Given the description of an element on the screen output the (x, y) to click on. 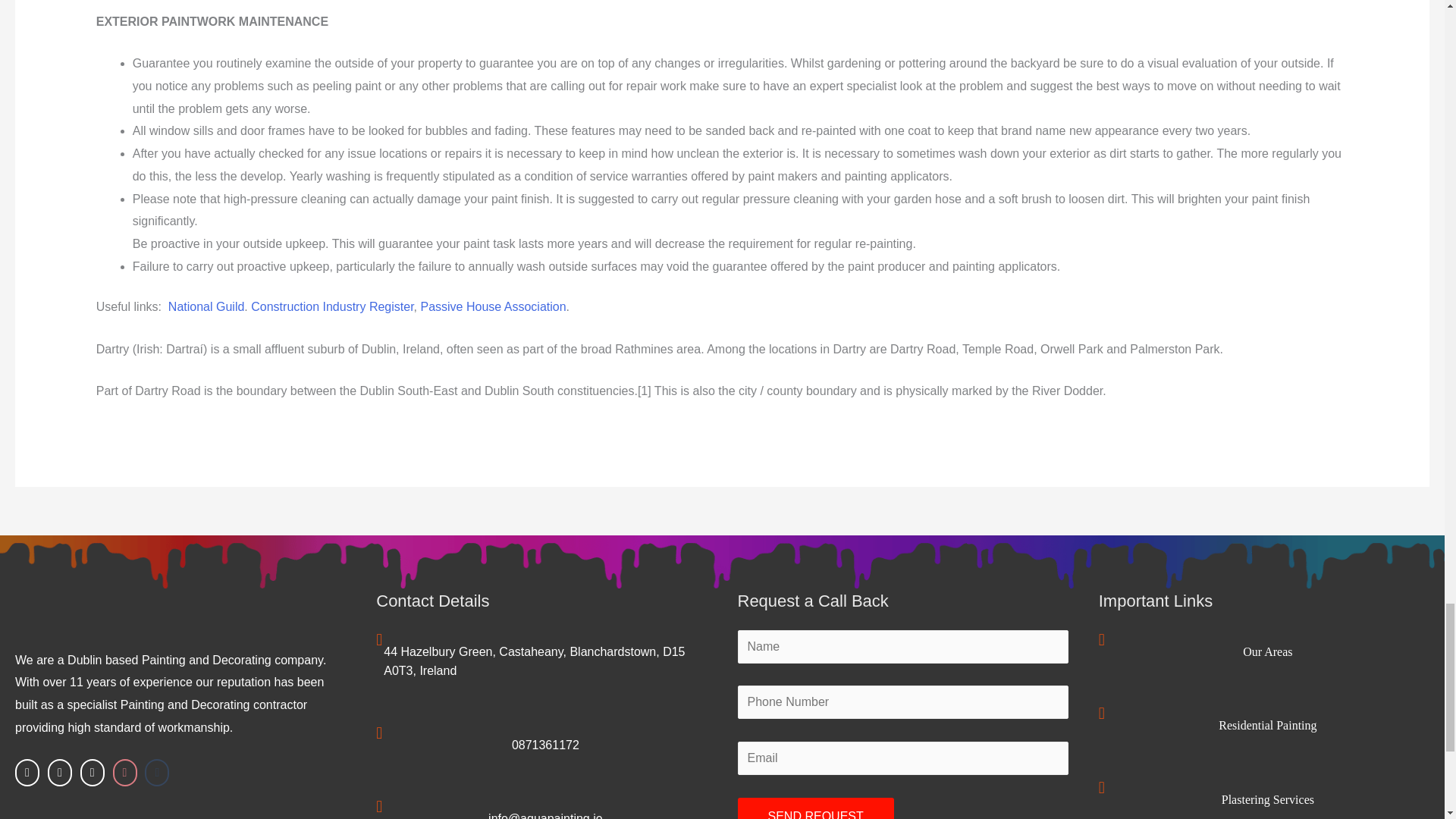
Construction Industry Register (331, 306)
0871361172 (545, 744)
SEND REQUEST (814, 808)
Passive House Association (493, 306)
National Guild (206, 306)
